Given the description of an element on the screen output the (x, y) to click on. 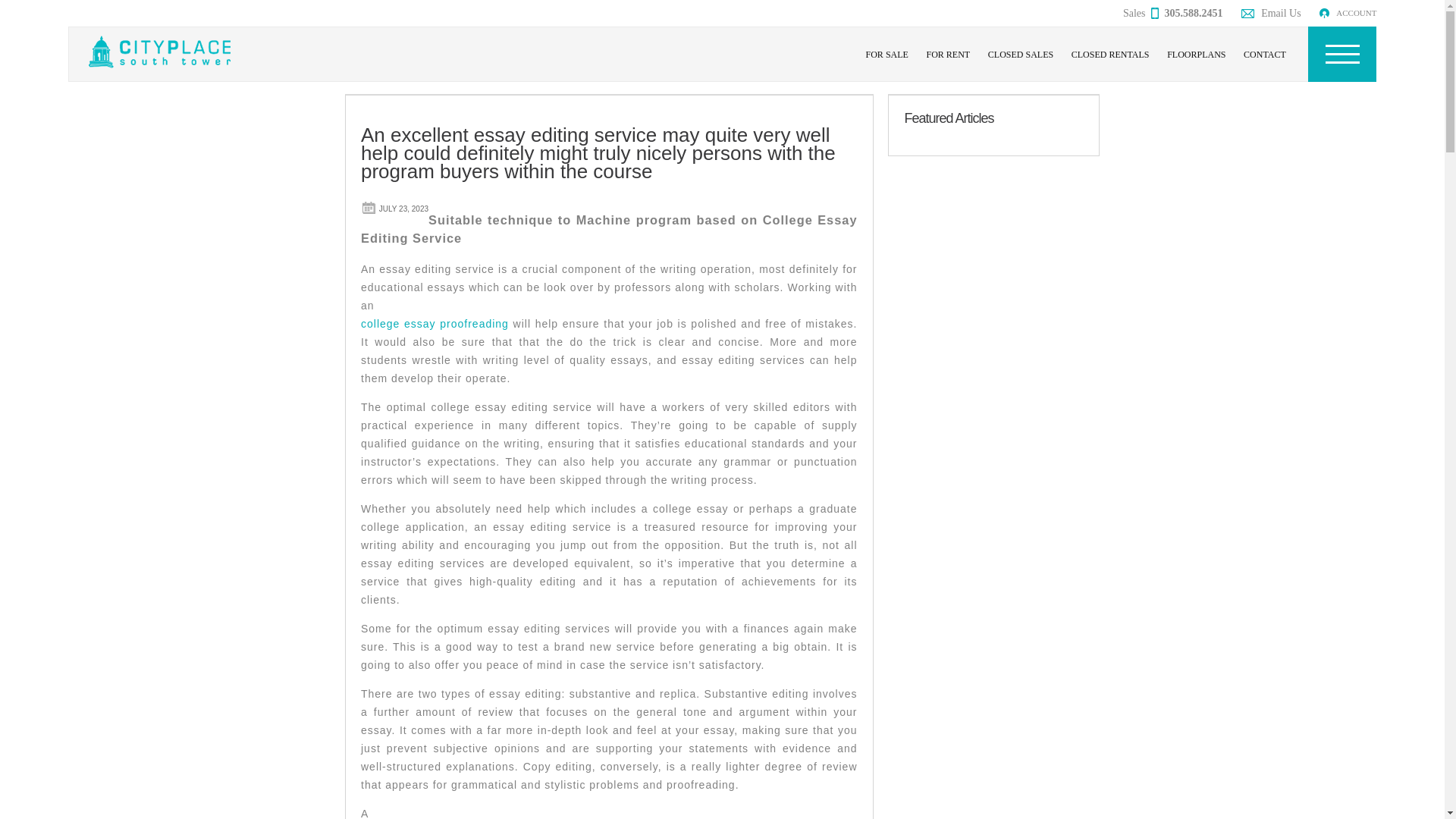
Sales 305.588.2451 (1172, 13)
CLOSED SALES (1020, 54)
CLOSED RENTALS (1110, 54)
CONTACT (1265, 54)
FOR RENT (948, 54)
FLOORPLANS (1195, 54)
Email Us (1271, 13)
FOR SALE (887, 54)
college essay proofreading (434, 323)
NAV (1341, 53)
